Given the description of an element on the screen output the (x, y) to click on. 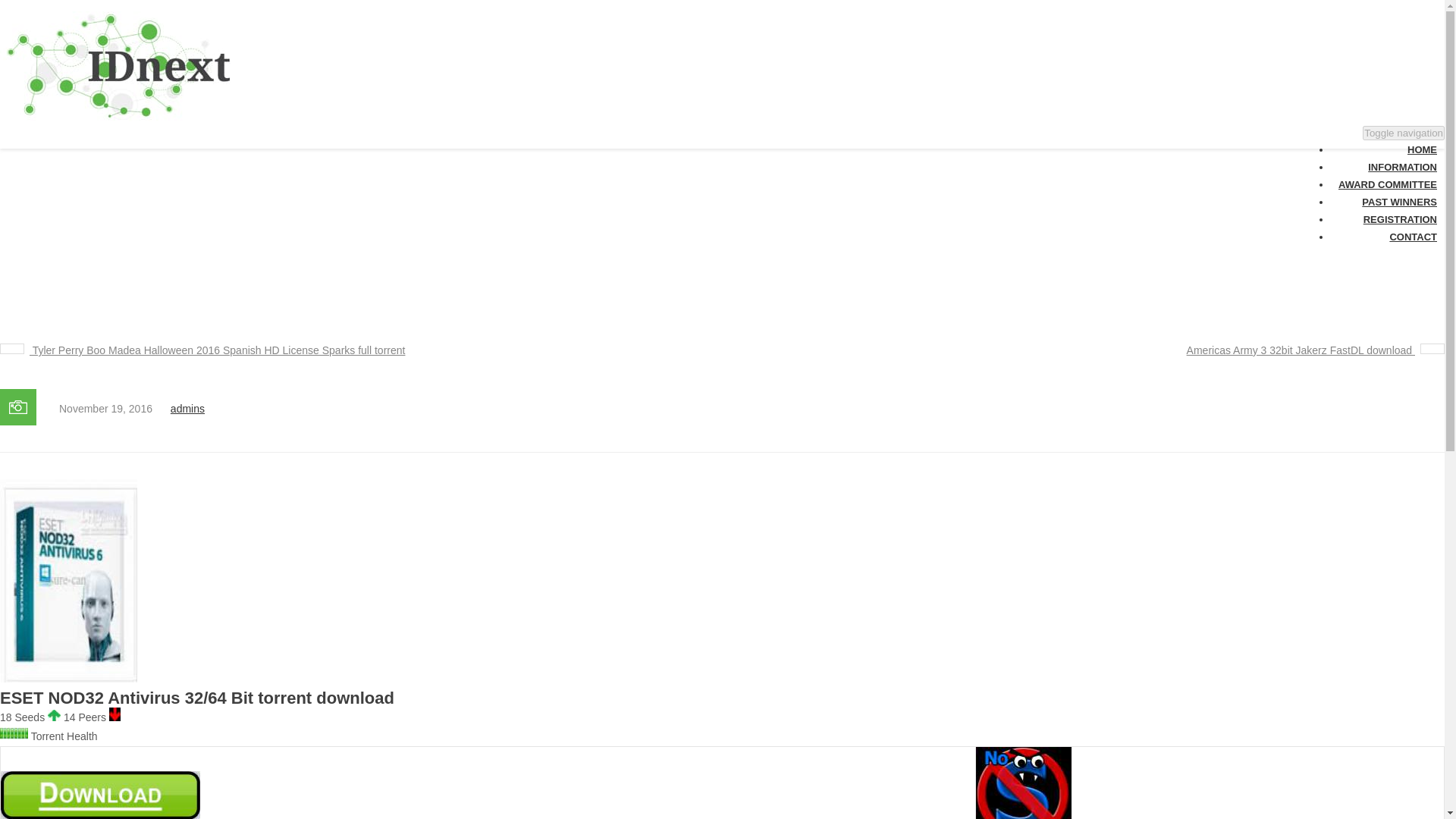
win64,freeware (648, 219)
PAST WINNERS (1375, 60)
admins (187, 408)
Digital Identity Award -  (246, 115)
Home (584, 219)
INFORMATION (1372, 26)
CONTACT (1361, 95)
HOME (1352, 12)
REGISTRATION (1374, 78)
